Given the description of an element on the screen output the (x, y) to click on. 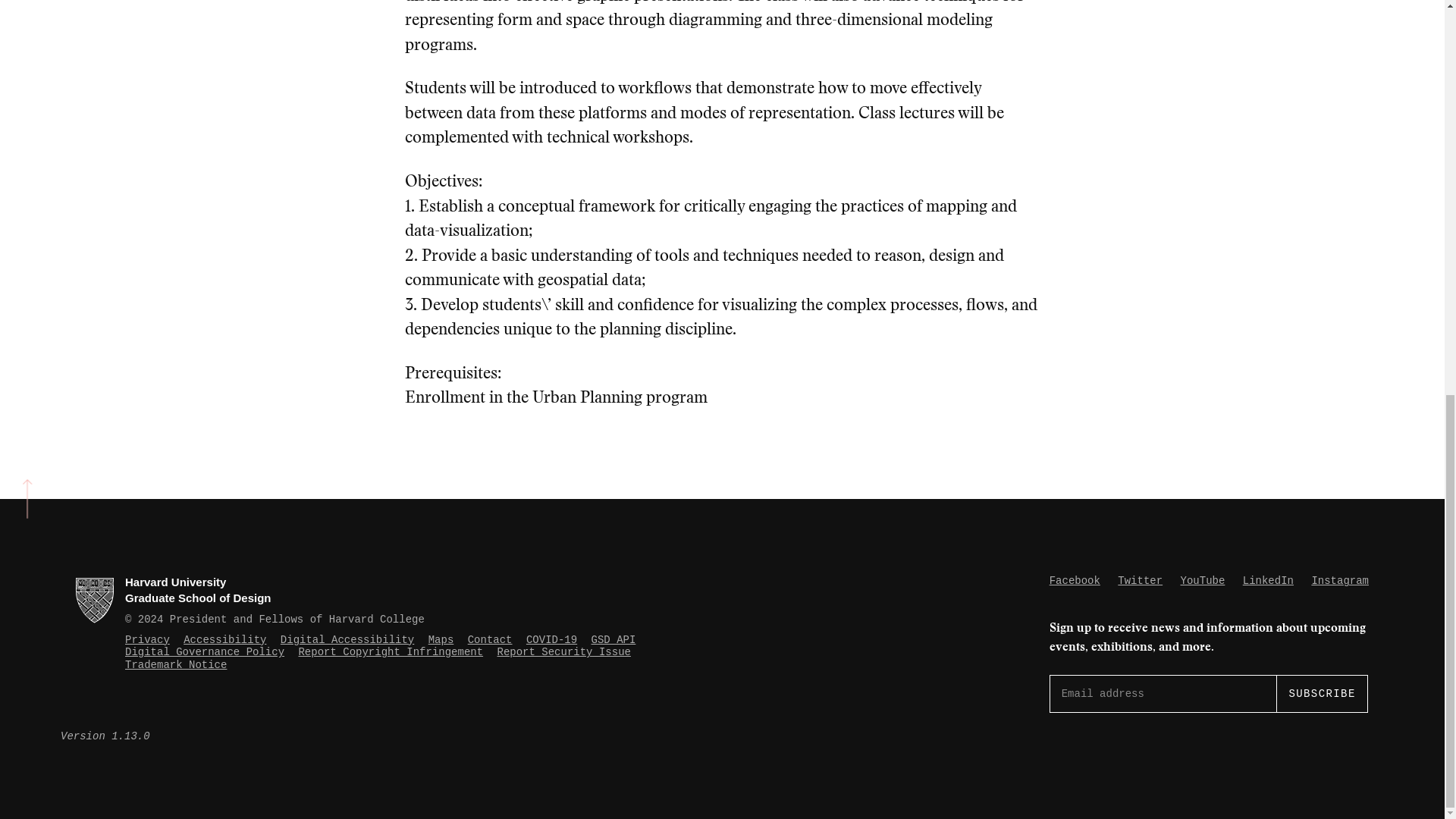
Subscribe (1321, 693)
